Given the description of an element on the screen output the (x, y) to click on. 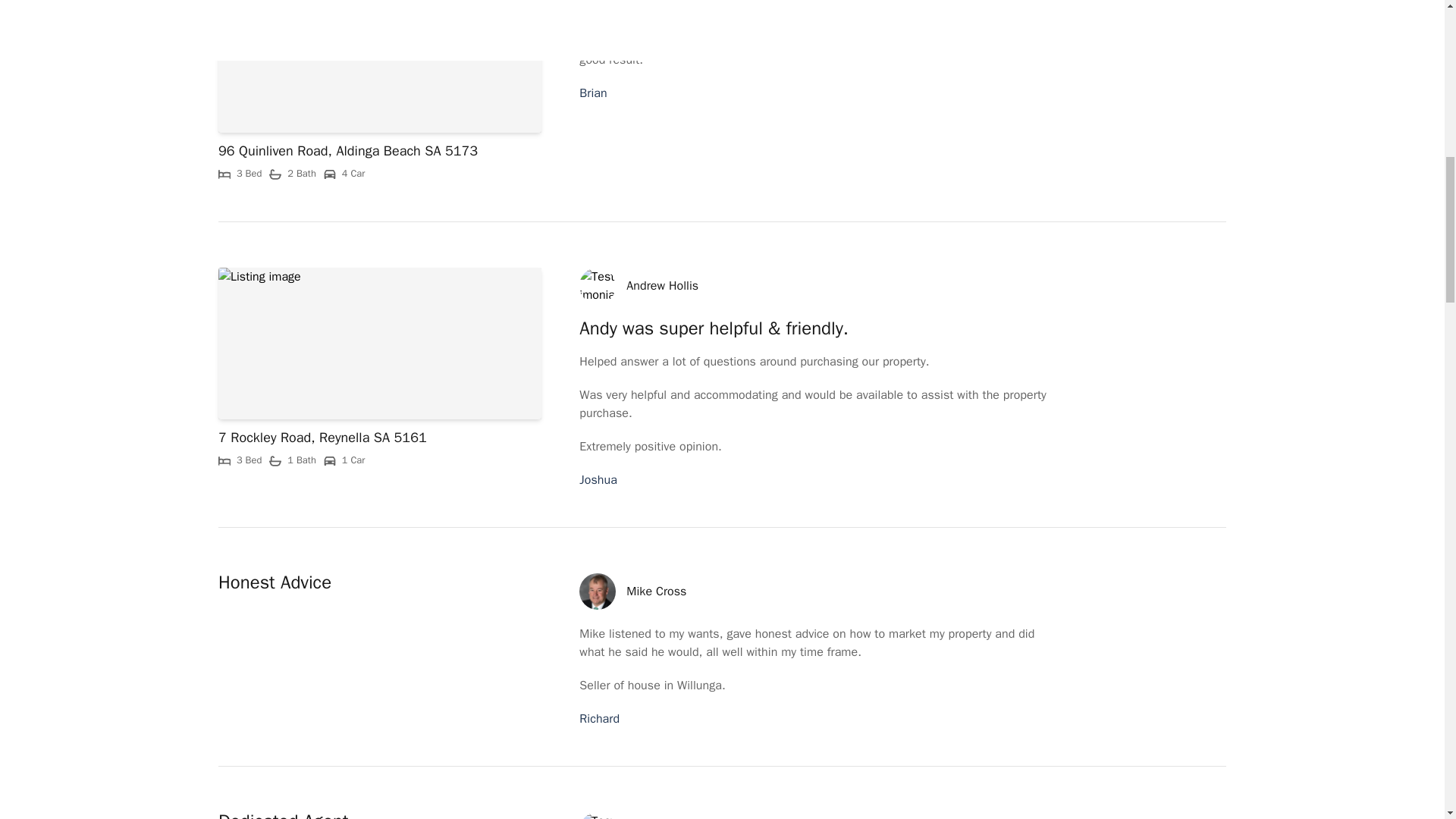
7 Rockley Road, Reynella SA 5161 (322, 437)
96 Quinliven Road, Aldinga Beach SA 5173 (347, 150)
Mike Cross (655, 591)
Andrew Hollis (662, 285)
